Given the description of an element on the screen output the (x, y) to click on. 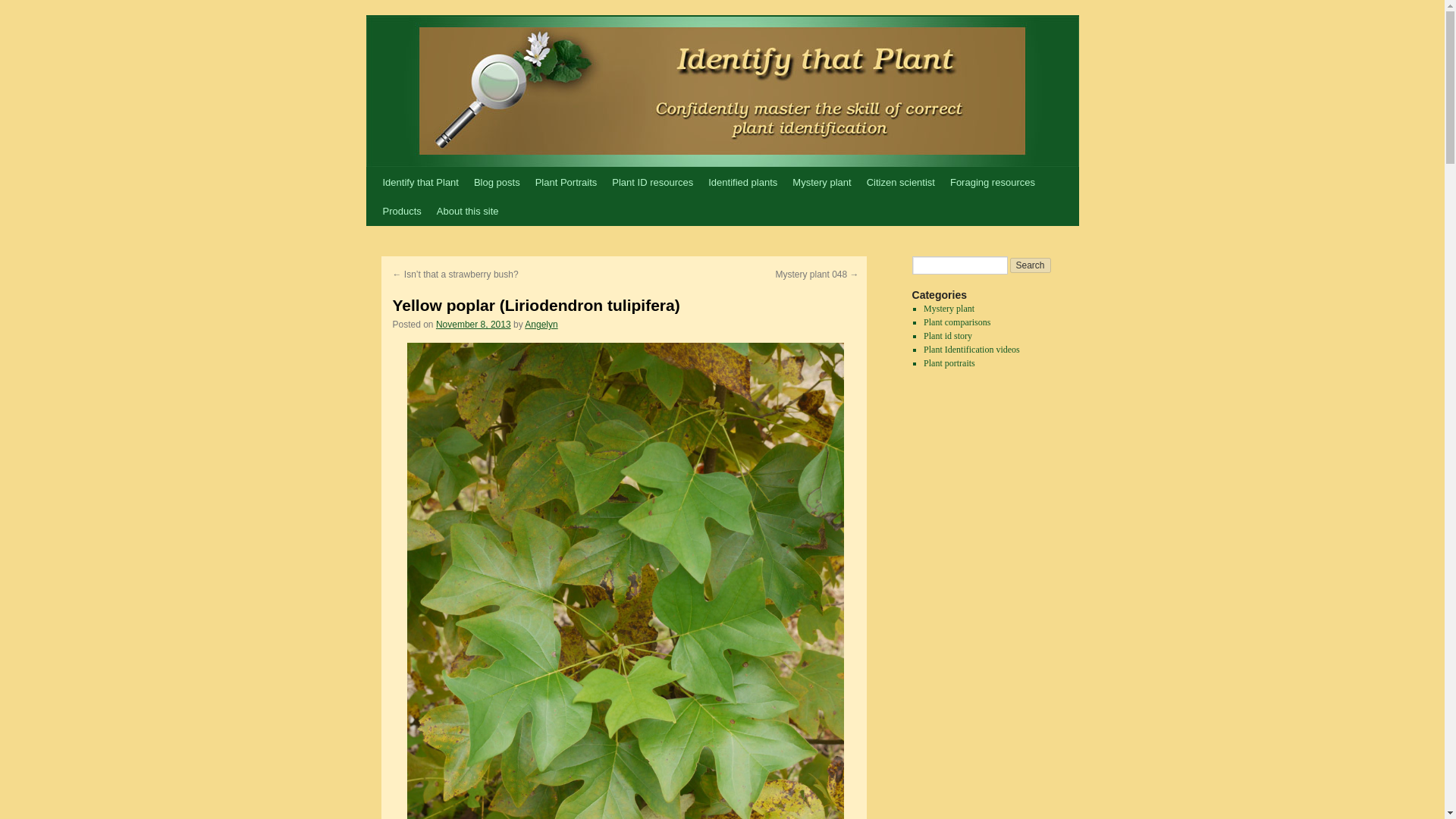
November 8, 2013 (473, 324)
Identify that Plant (419, 182)
Mystery plant (821, 182)
Angelyn (540, 324)
Products (401, 211)
Skip to content (372, 210)
Plant ID resources (652, 182)
About this site (467, 211)
Search (1030, 264)
Search (1030, 264)
View all posts by Angelyn (540, 324)
Citizen scientist (900, 182)
Plant comparisons (956, 321)
Foraging resources (992, 182)
Plant id story (947, 335)
